Given the description of an element on the screen output the (x, y) to click on. 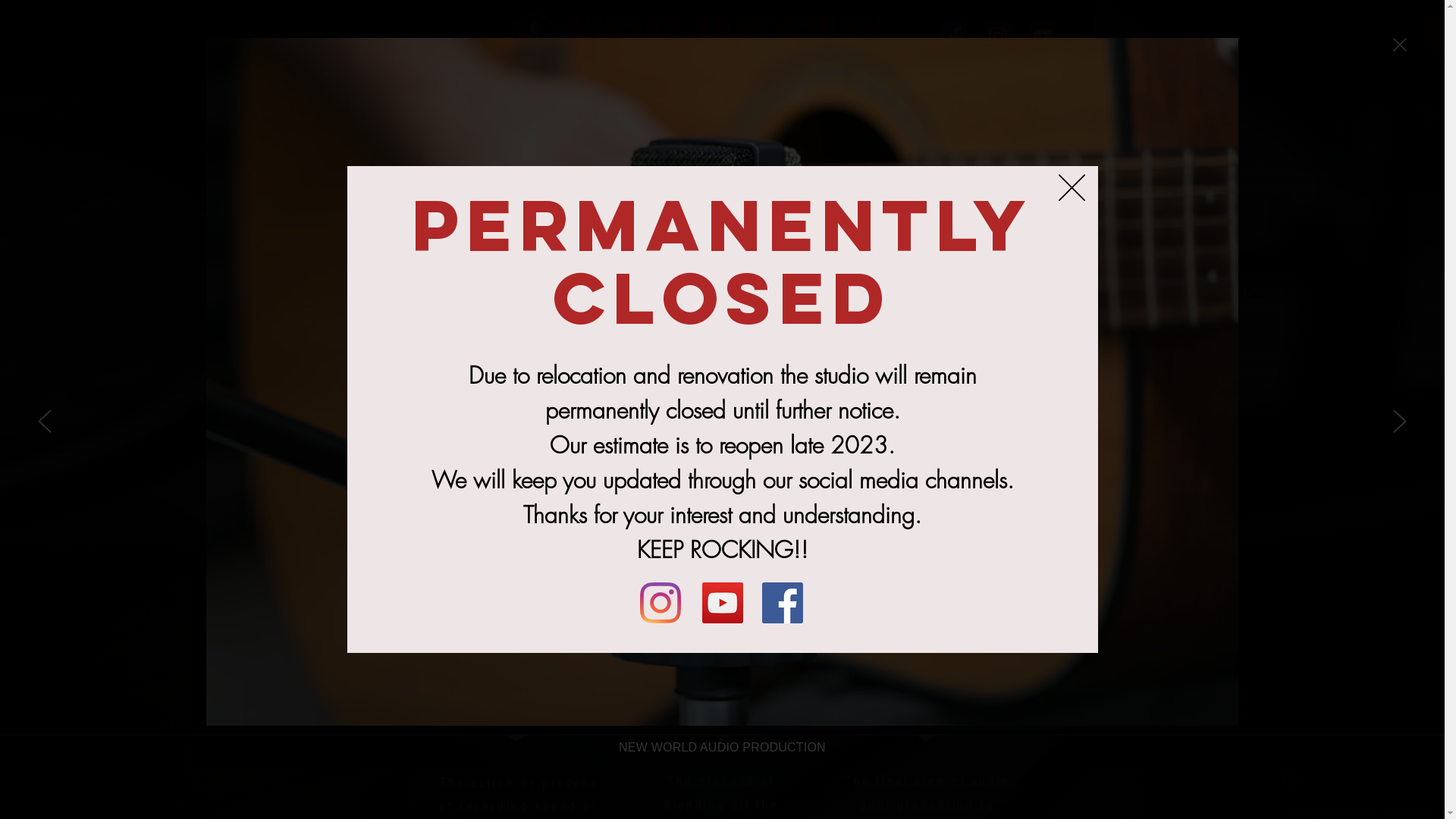
Back to site Element type: hover (1071, 187)
RATES Element type: text (581, 88)
BOOK ONLINE Element type: text (721, 491)
LISTEN Element type: text (528, 88)
PATREON EXCLUSIVE Element type: text (760, 88)
BOOK ONLINE Element type: text (650, 88)
THE STUDIO Element type: text (461, 88)
COVID SAFE PLAN Element type: text (1012, 88)
HOME Element type: text (398, 88)
FAQ's Element type: text (932, 88)
CONTACT US Element type: text (867, 88)
